Given the description of an element on the screen output the (x, y) to click on. 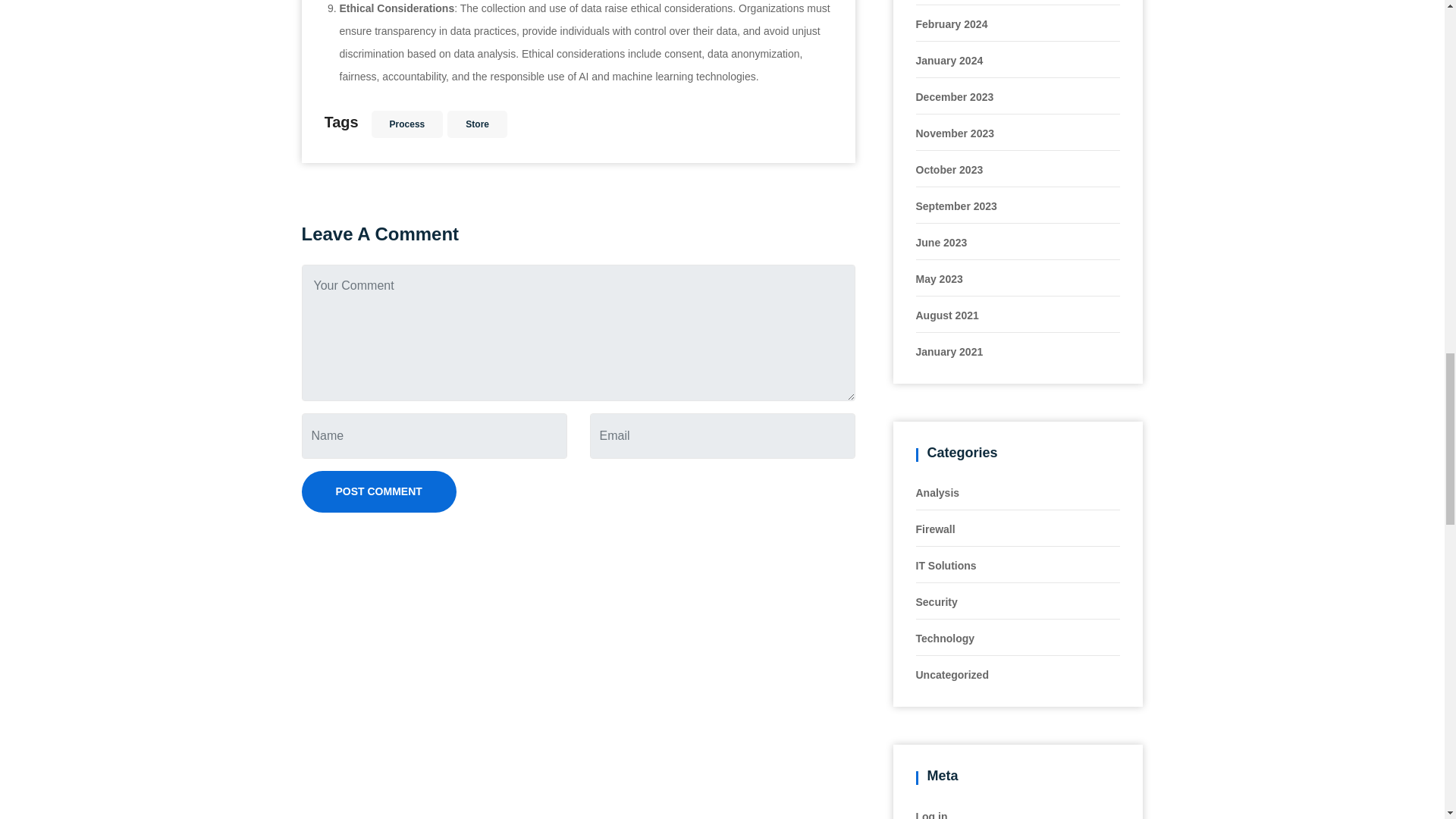
January 2024 (949, 60)
October 2023 (949, 169)
November 2023 (954, 133)
September 2023 (956, 205)
Store (476, 124)
POST COMMENT (379, 491)
Process (407, 124)
February 2024 (951, 24)
December 2023 (954, 96)
